Given the description of an element on the screen output the (x, y) to click on. 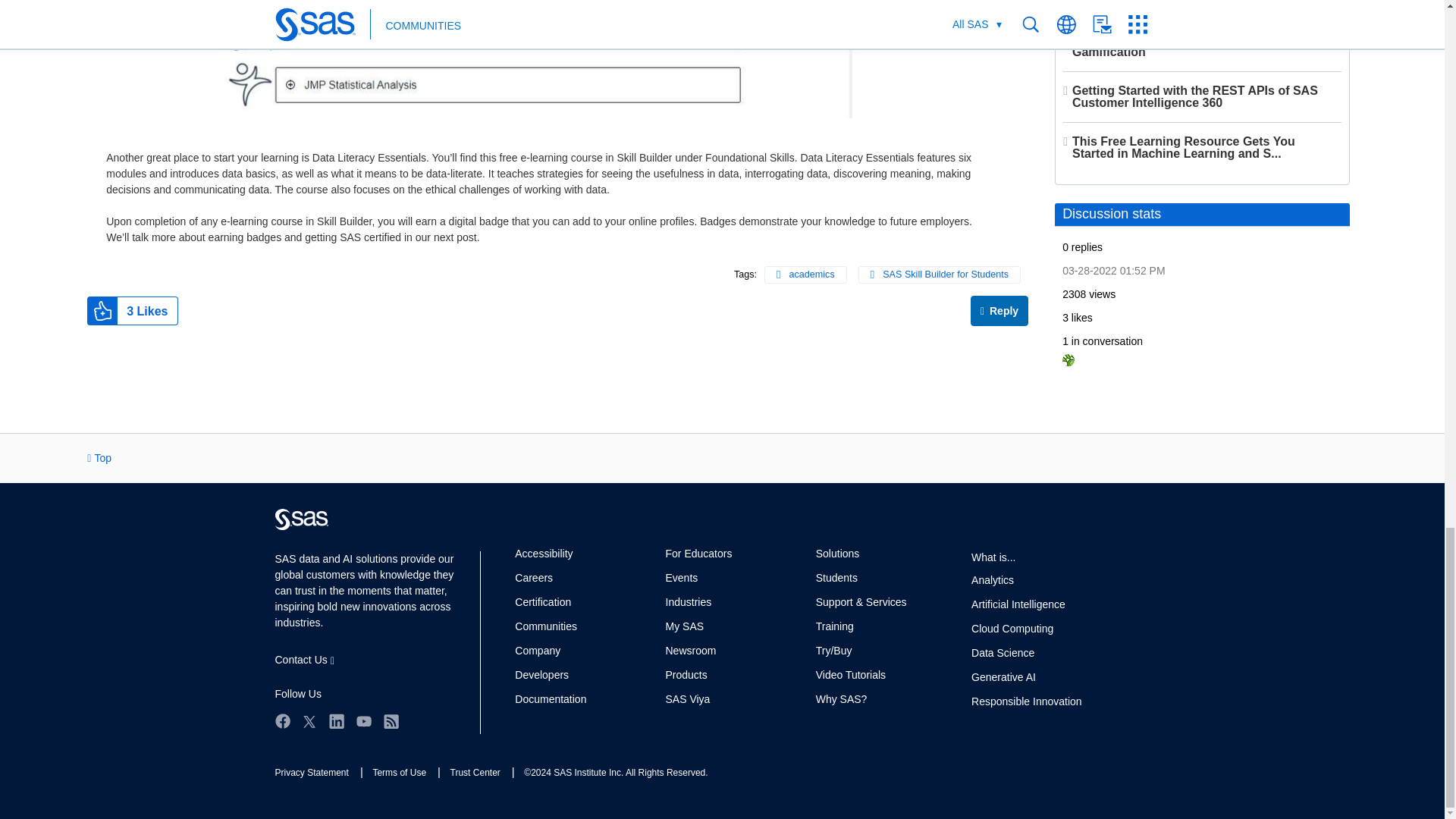
Top (98, 458)
Top (98, 458)
